Given the description of an element on the screen output the (x, y) to click on. 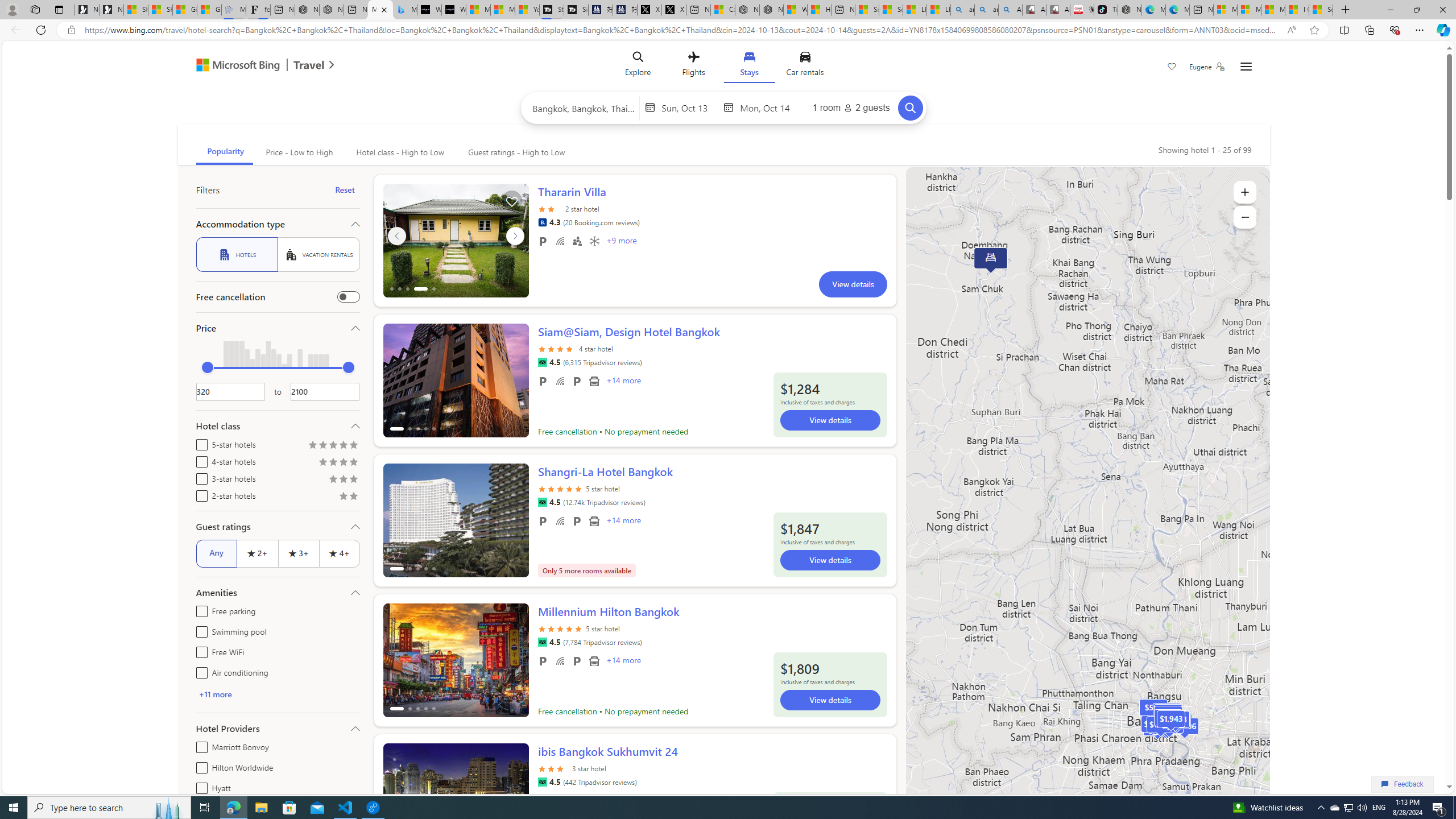
Nordace - #1 Japanese Best-Seller - Siena Smart Backpack (330, 9)
Guest ratings (277, 526)
Price (277, 327)
New Tab (1346, 9)
Slide 4 (455, 240)
Valet parking (577, 660)
3+ (298, 553)
Microsoft Start Sports (478, 9)
Hyatt (199, 786)
Tripadvisor (542, 781)
Close tab (384, 9)
Amenities (277, 592)
Airport transportation (593, 660)
